Given the description of an element on the screen output the (x, y) to click on. 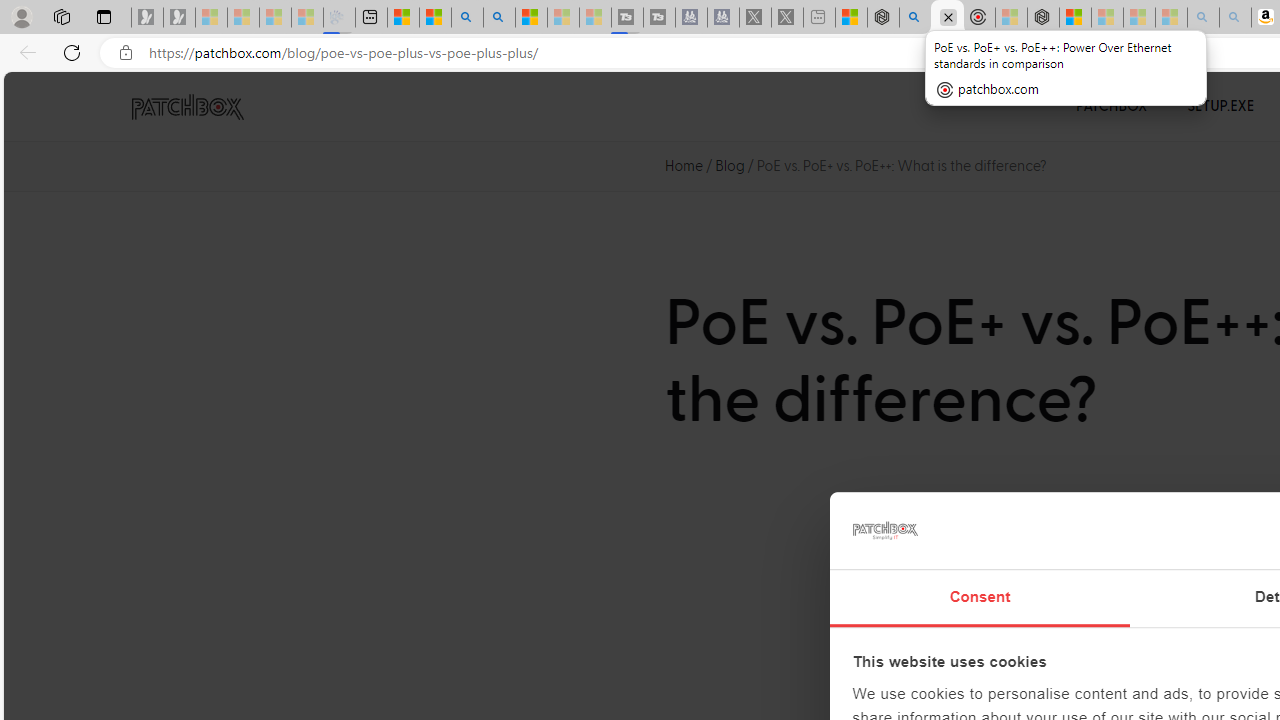
Blog (729, 165)
PATCHBOX (1111, 106)
logo (884, 530)
PATCHBOX Simplify IT (200, 106)
